Given the description of an element on the screen output the (x, y) to click on. 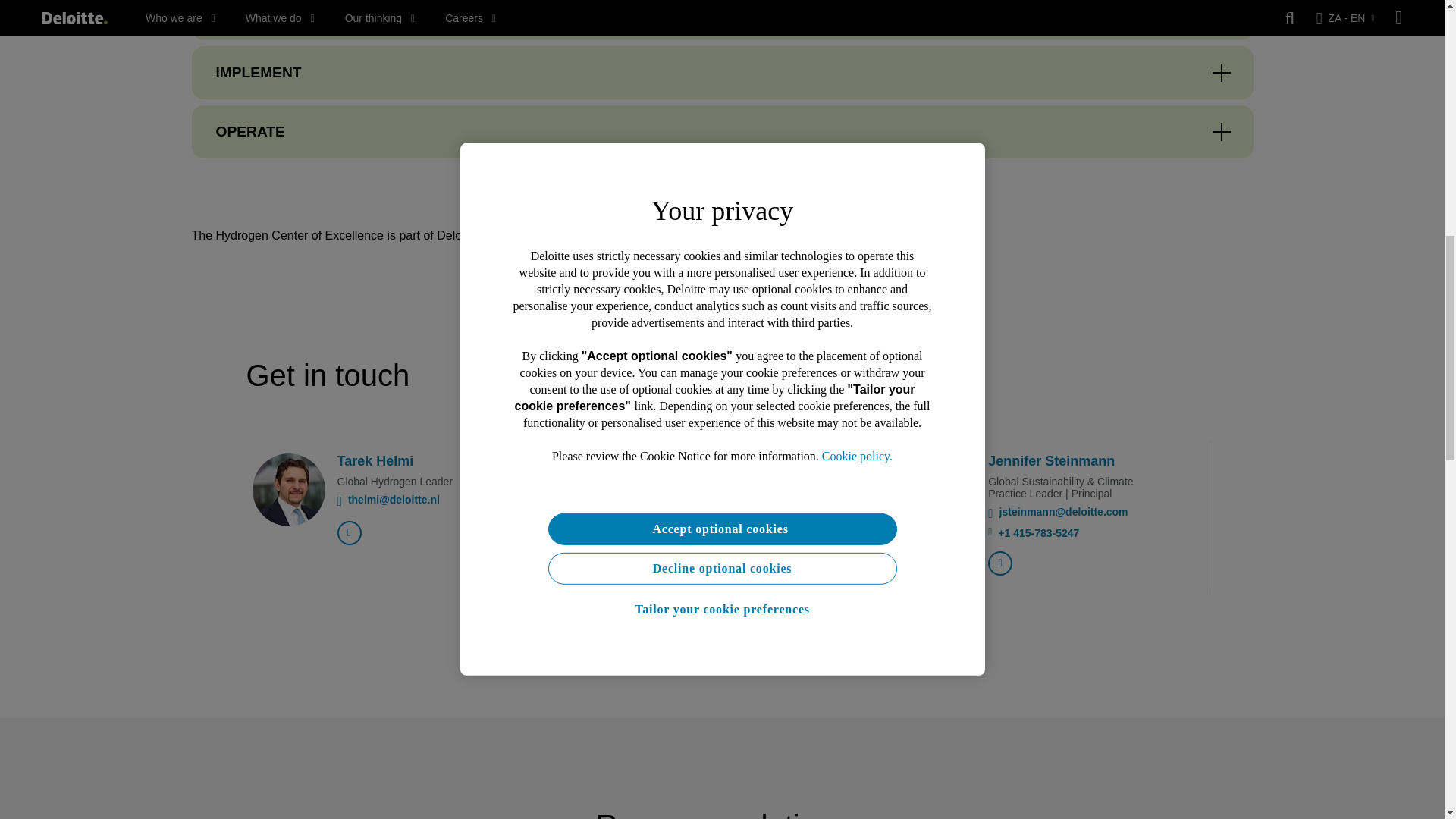
connect via linkedin (348, 532)
connect via linkedin (674, 562)
connect via linkedin (999, 562)
